Given the description of an element on the screen output the (x, y) to click on. 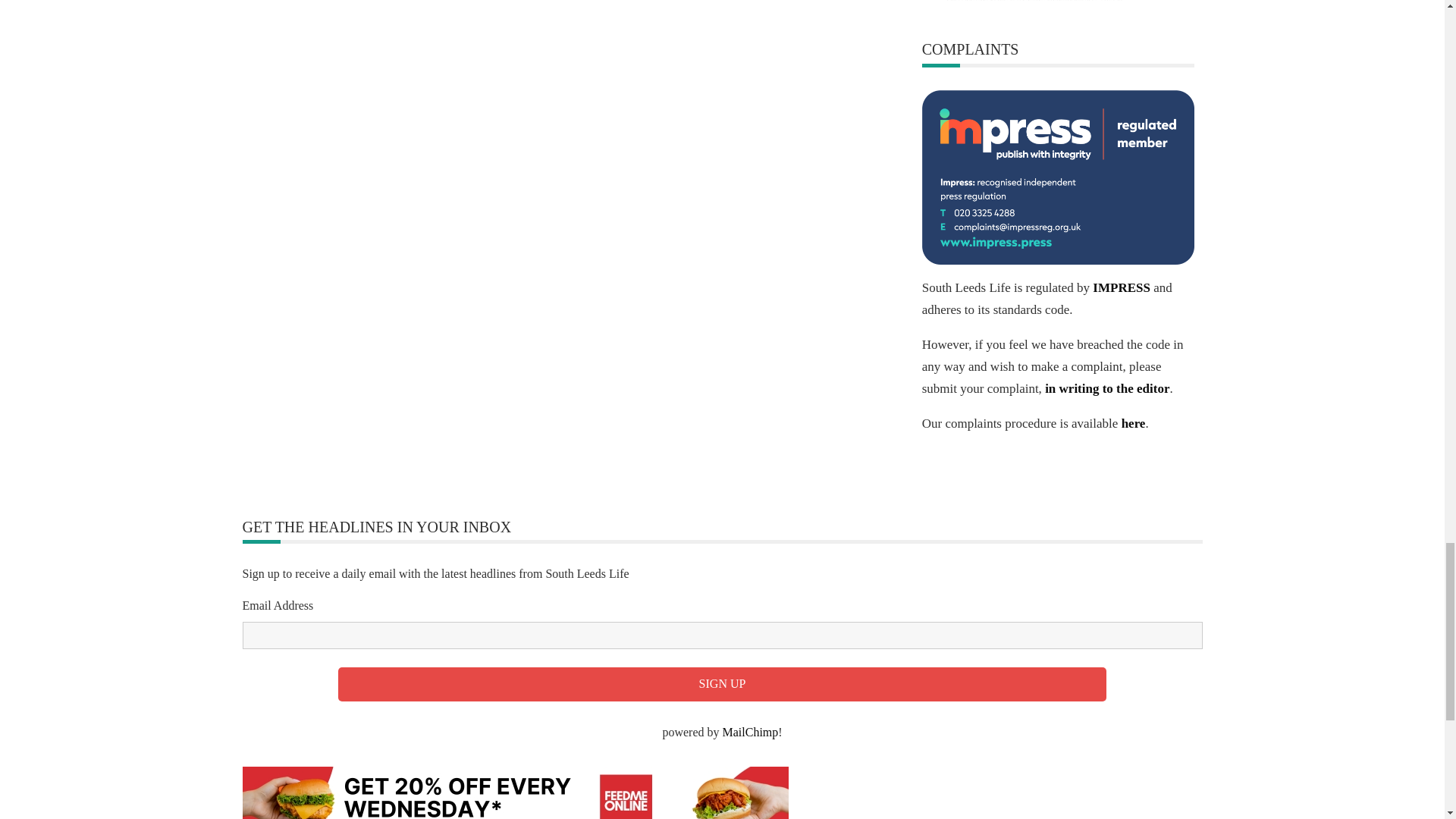
Sign up (721, 684)
